Given the description of an element on the screen output the (x, y) to click on. 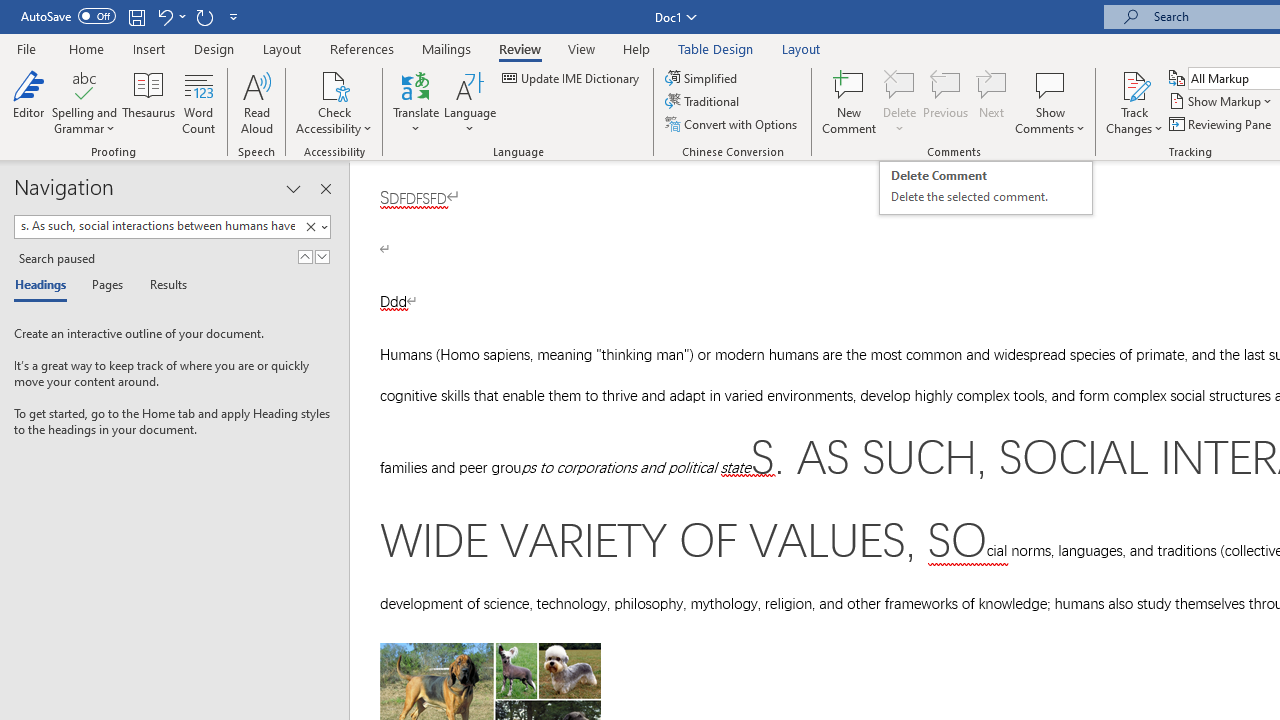
Previous Result (304, 256)
Repeat Style (204, 15)
Delete (900, 84)
Reviewing Pane (1221, 124)
Update IME Dictionary... (572, 78)
Spelling and Grammar (84, 84)
Word Count (198, 102)
Show Markup (1222, 101)
Show Comments (1050, 102)
Clear (310, 227)
Clear (314, 227)
